Given the description of an element on the screen output the (x, y) to click on. 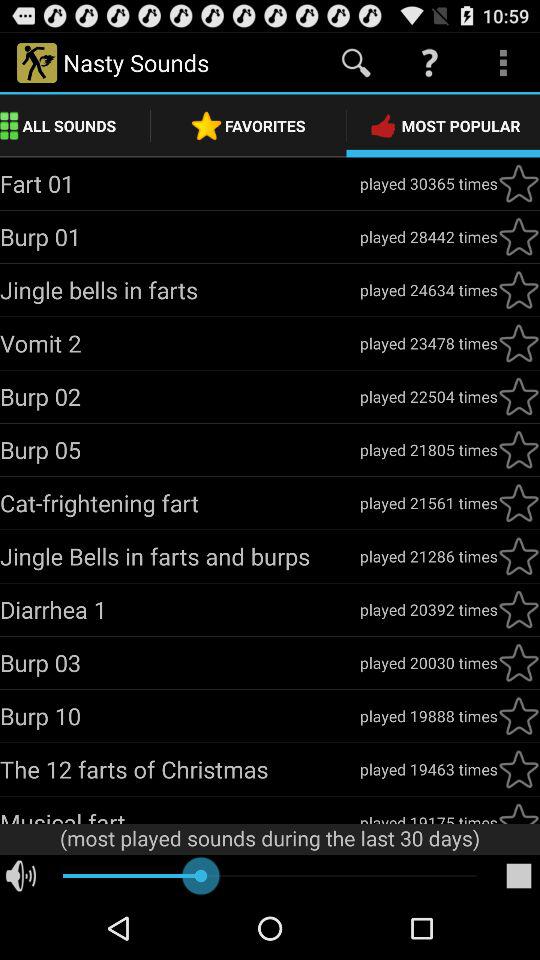
choose the played 20030 times app (428, 662)
